Given the description of an element on the screen output the (x, y) to click on. 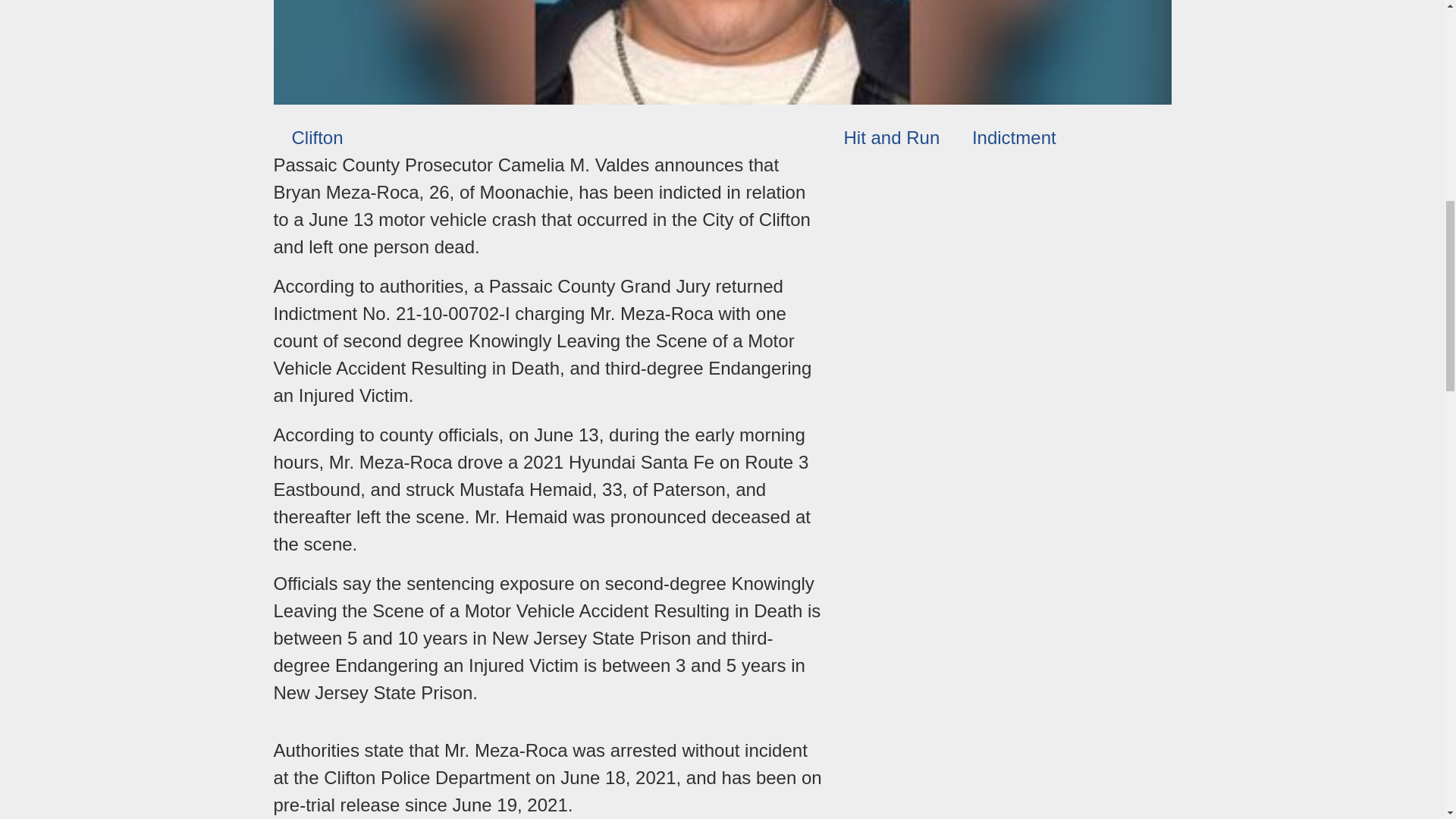
Hit and Run (882, 137)
Indictment (1005, 137)
Clifton (307, 137)
